Given the description of an element on the screen output the (x, y) to click on. 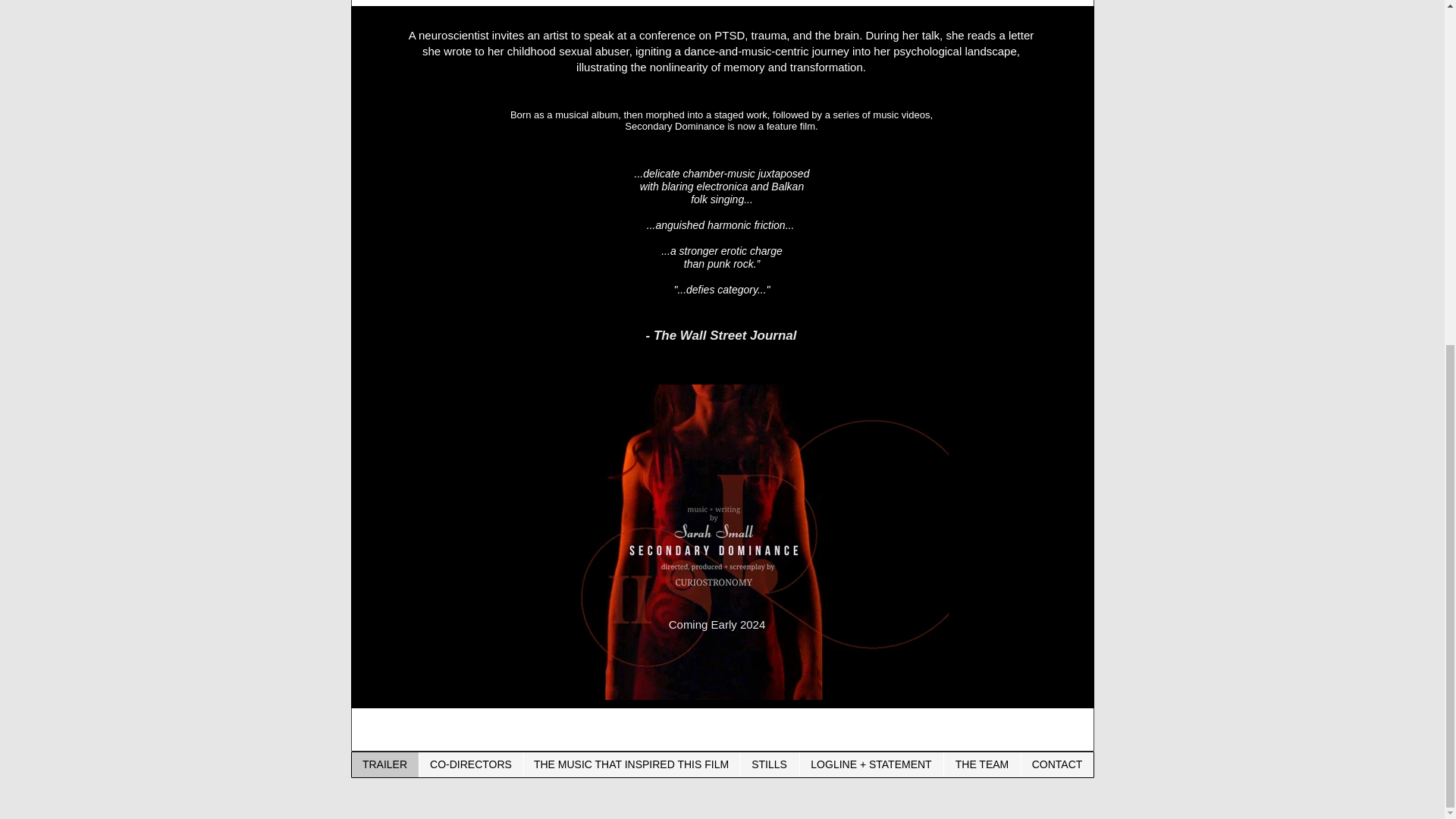
CO-DIRECTORS (470, 764)
Coming Early 2024 (716, 624)
THE MUSIC THAT INSPIRED THIS FILM (630, 764)
THE TEAM (981, 764)
STILLS (767, 764)
TRAILER (385, 764)
CONTACT (1056, 764)
